Given the description of an element on the screen output the (x, y) to click on. 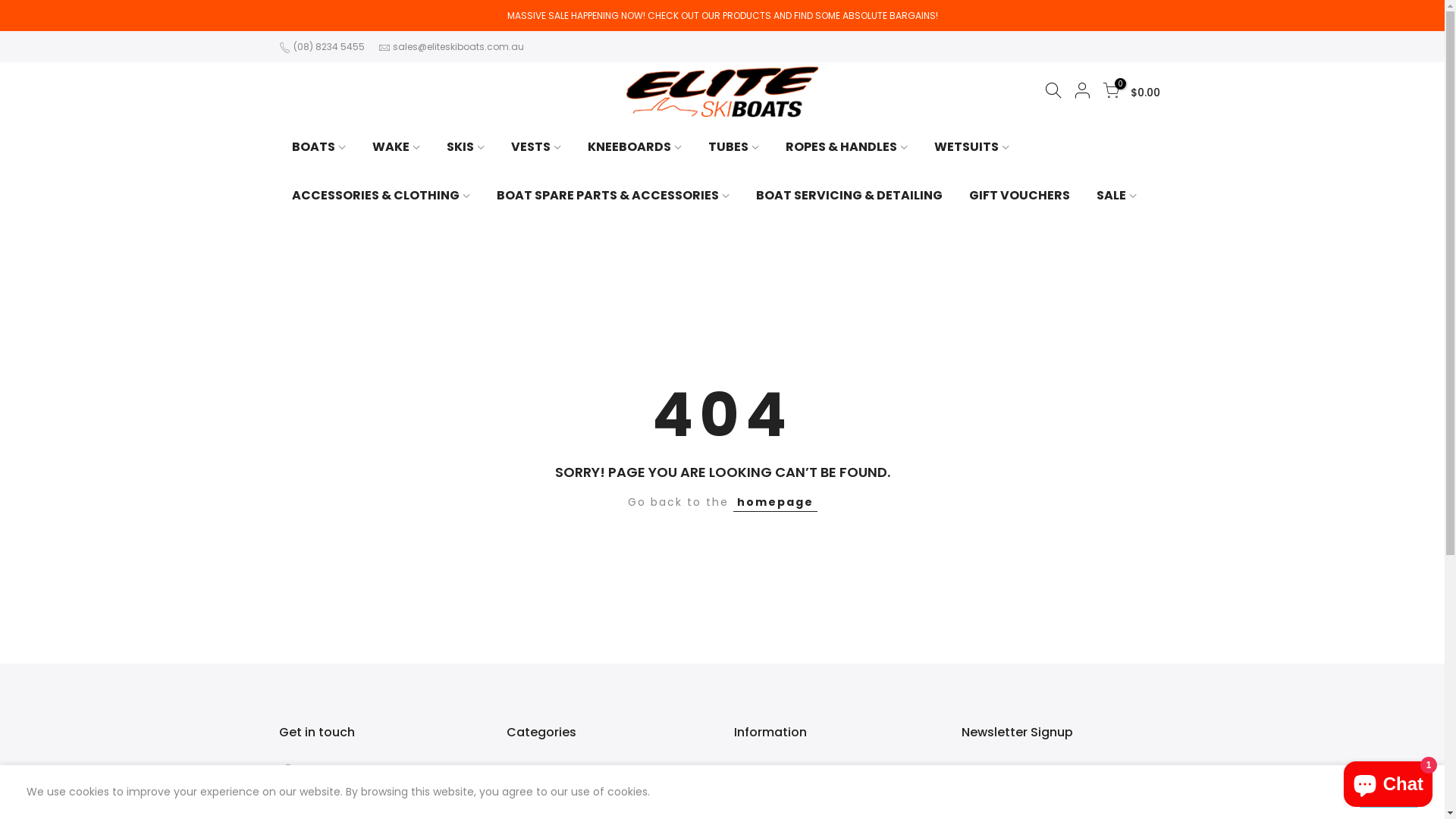
VESTS Element type: text (535, 146)
Boat Spare Parts & Accessories Element type: text (588, 801)
KNEEBOARDS Element type: text (634, 146)
homepage Element type: text (774, 501)
BOAT SPARE PARTS & ACCESSORIES Element type: text (613, 195)
ROPES & HANDLES Element type: text (845, 146)
Accessories & Clothing Element type: text (567, 775)
Shopify online store chat Element type: hover (1388, 780)
SALE Element type: text (1115, 195)
WAKE Element type: text (396, 146)
WETSUITS Element type: text (971, 146)
0 Element type: text (1110, 92)
Privacy Policy Element type: text (769, 801)
BOATS Element type: text (319, 146)
BOAT SERVICING & DETAILING Element type: text (849, 195)
TUBES Element type: text (732, 146)
GIFT VOUCHERS Element type: text (1018, 195)
sales@eliteskiboats.com.au Element type: text (458, 46)
ACCEPT Element type: text (1388, 791)
SKIS Element type: text (465, 146)
ACCESSORIES & CLOTHING Element type: text (381, 195)
About Us Element type: text (757, 775)
